Given the description of an element on the screen output the (x, y) to click on. 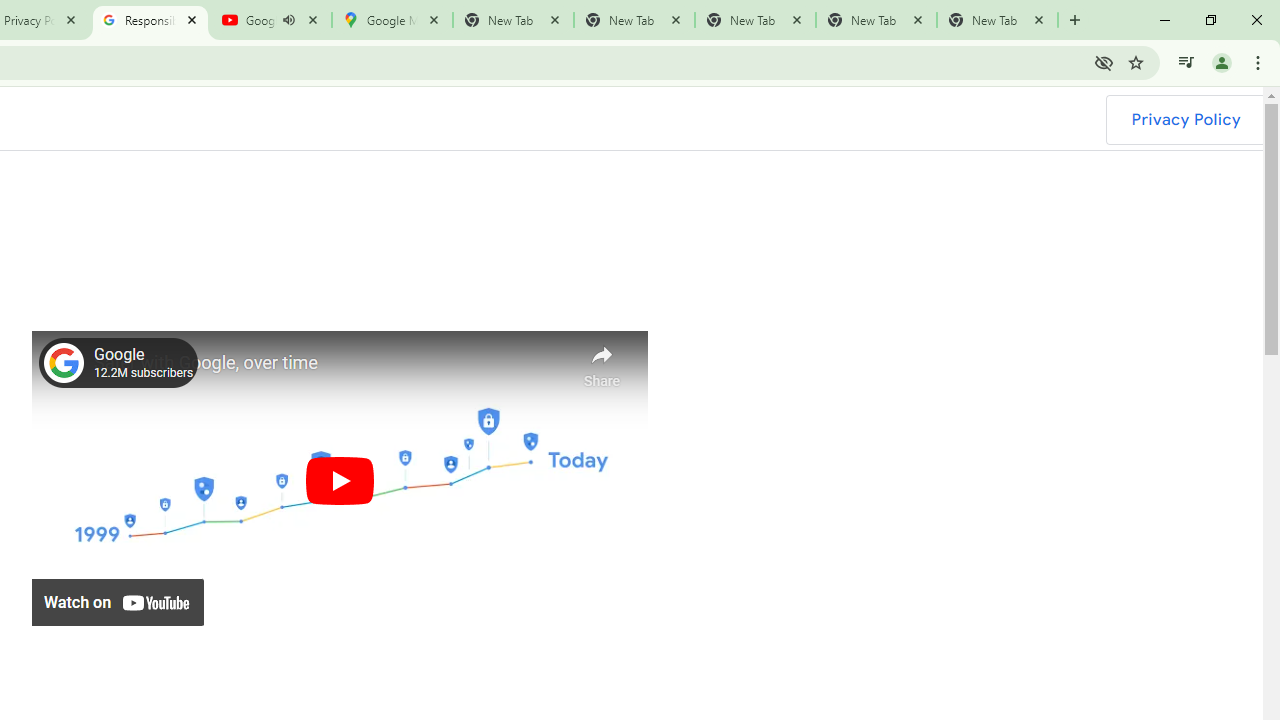
Google Maps (392, 20)
Share (601, 361)
Watch on YouTube (118, 601)
Photo image of Google (63, 362)
Safer with Google, over time (330, 363)
